Given the description of an element on the screen output the (x, y) to click on. 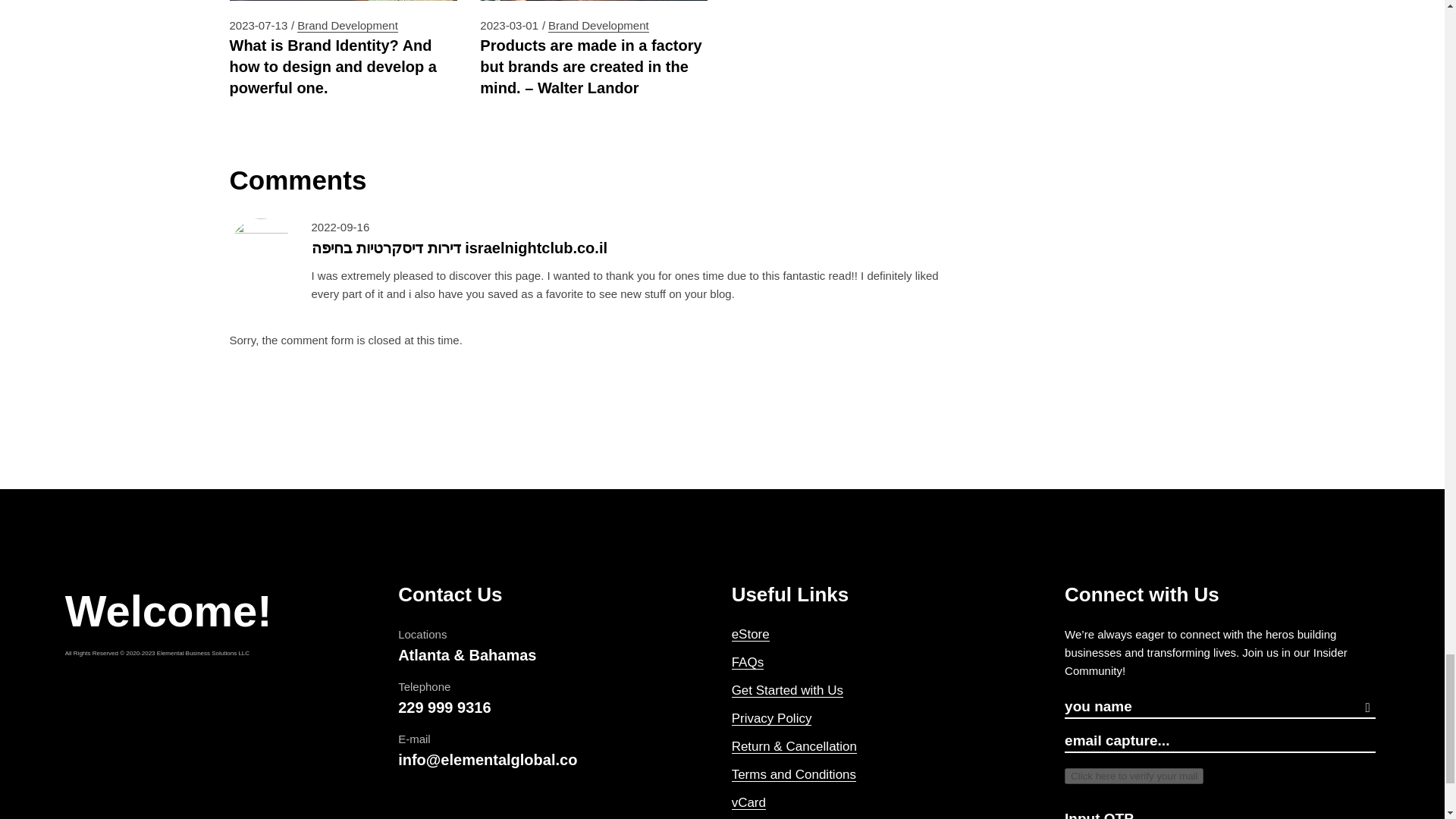
Click here to verify your mail (1134, 775)
